Given the description of an element on the screen output the (x, y) to click on. 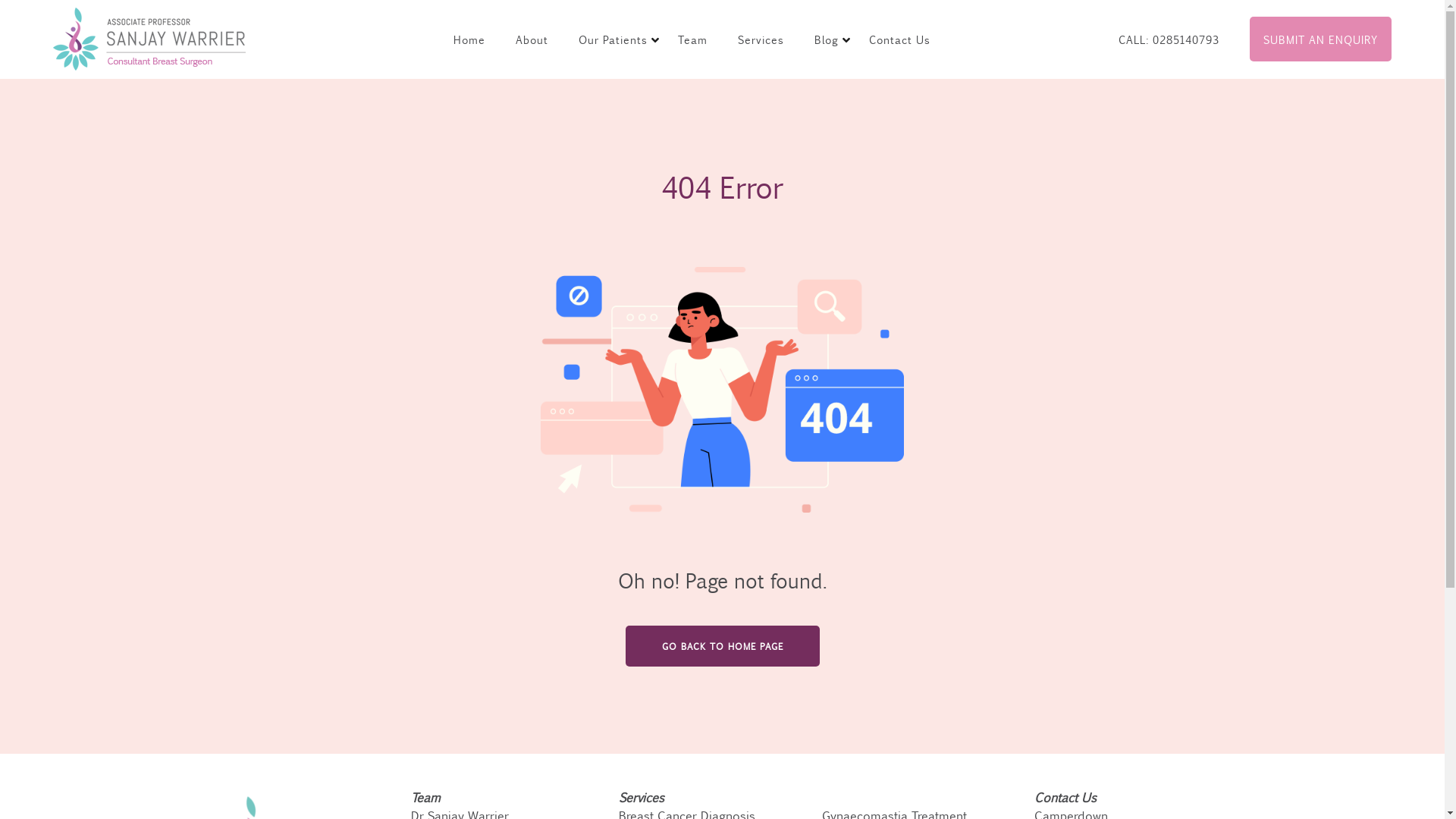
CALL: 0285140793 Element type: text (1168, 38)
Contact Us Element type: text (1065, 797)
Services Element type: text (641, 797)
SUBMIT AN ENQUIRY Element type: text (1320, 38)
Contact Us Element type: text (899, 38)
GO BACK TO HOME PAGE Element type: text (721, 645)
About Element type: text (531, 38)
Our Patients Element type: text (618, 38)
Team Element type: text (425, 797)
Team Element type: text (692, 38)
Services Element type: text (760, 38)
Blog Element type: text (832, 38)
Home Element type: text (469, 38)
